Given the description of an element on the screen output the (x, y) to click on. 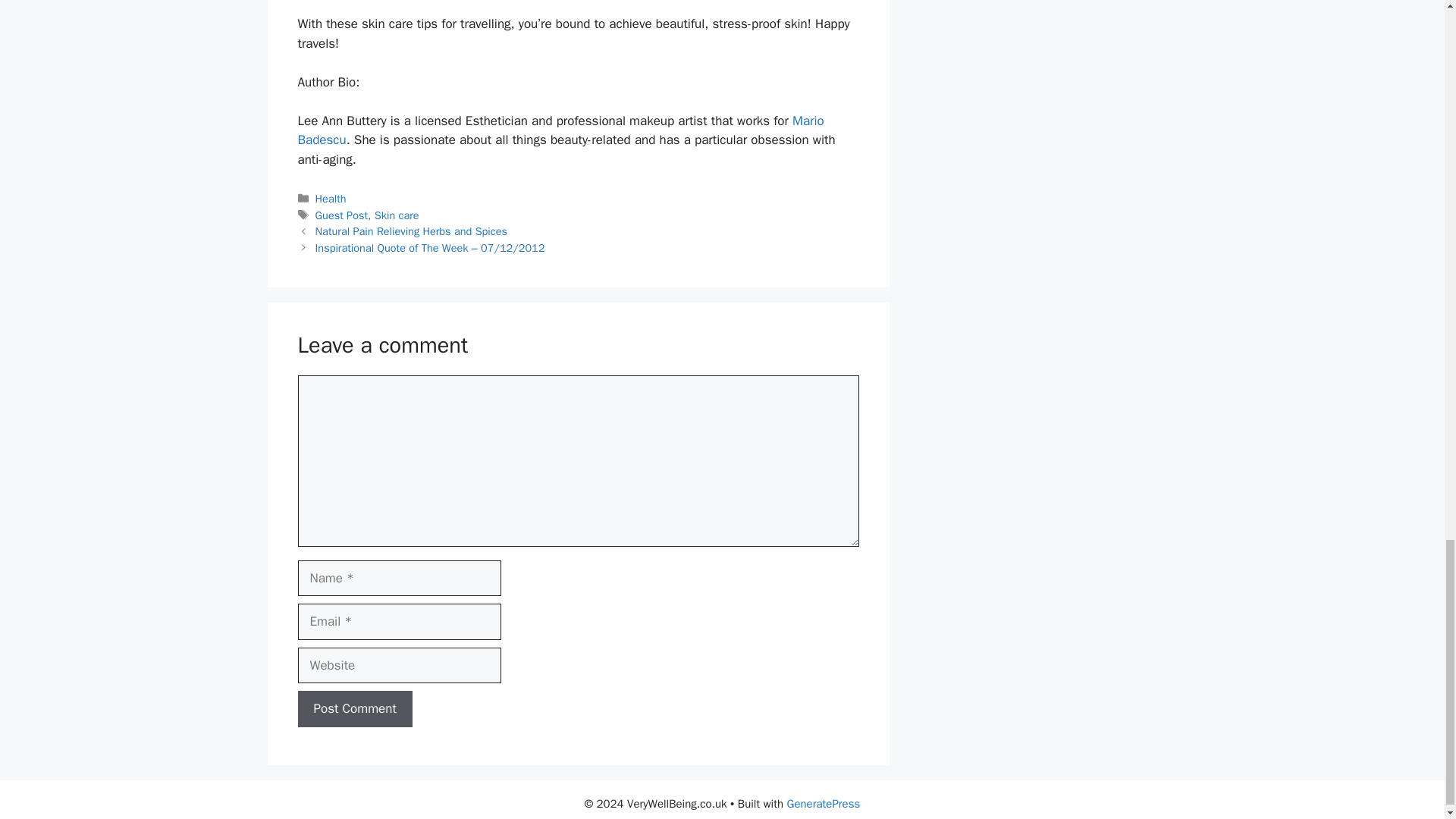
GeneratePress (823, 803)
Health (330, 198)
Skin care (396, 214)
Mario Badescu (560, 130)
Natural Pain Relieving Herbs and Spices (410, 231)
Guest Post (341, 214)
Post Comment (354, 709)
Post Comment (354, 709)
